Given the description of an element on the screen output the (x, y) to click on. 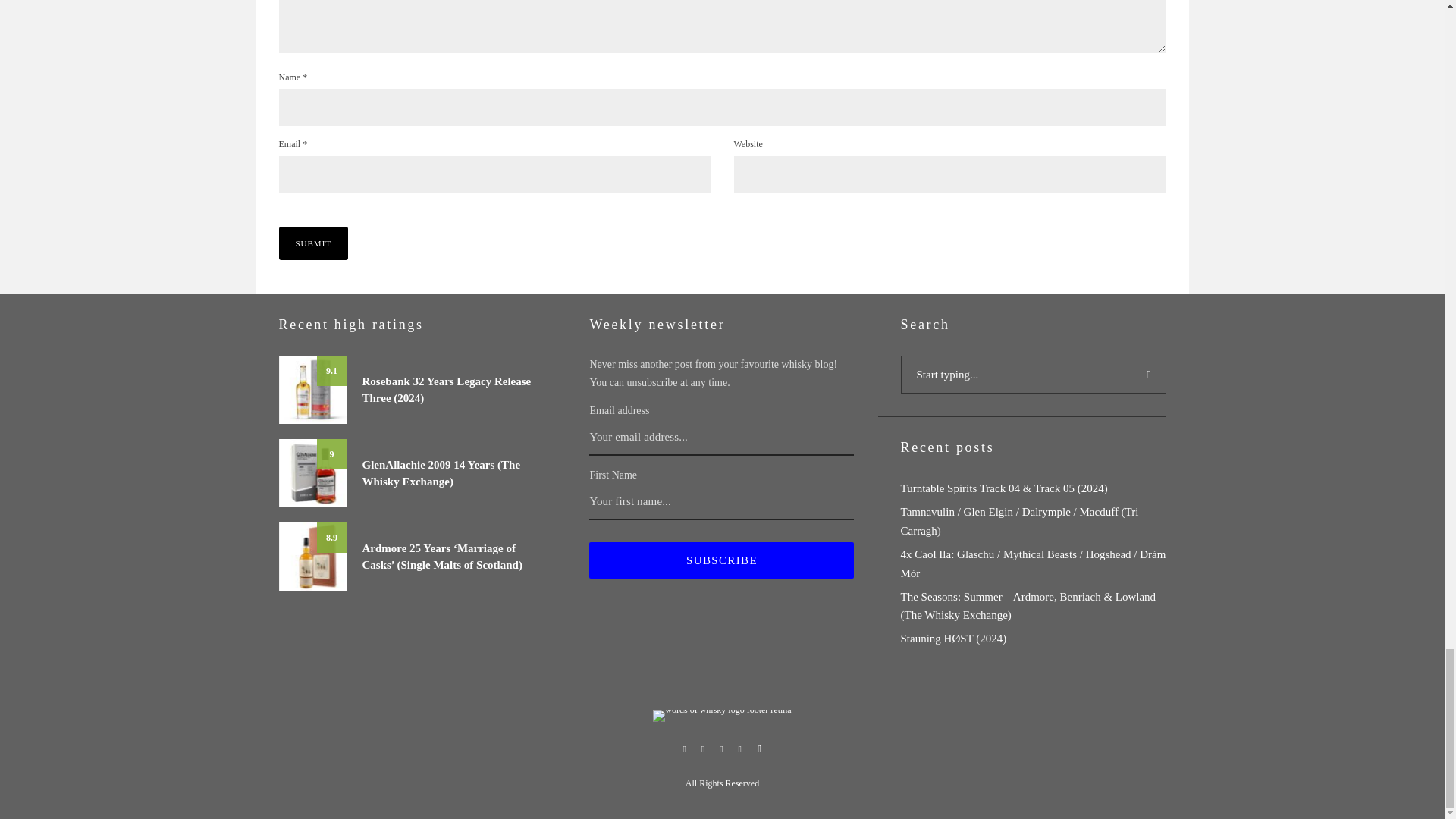
Submit (314, 243)
Subscribe (721, 560)
Submit (314, 243)
